Given the description of an element on the screen output the (x, y) to click on. 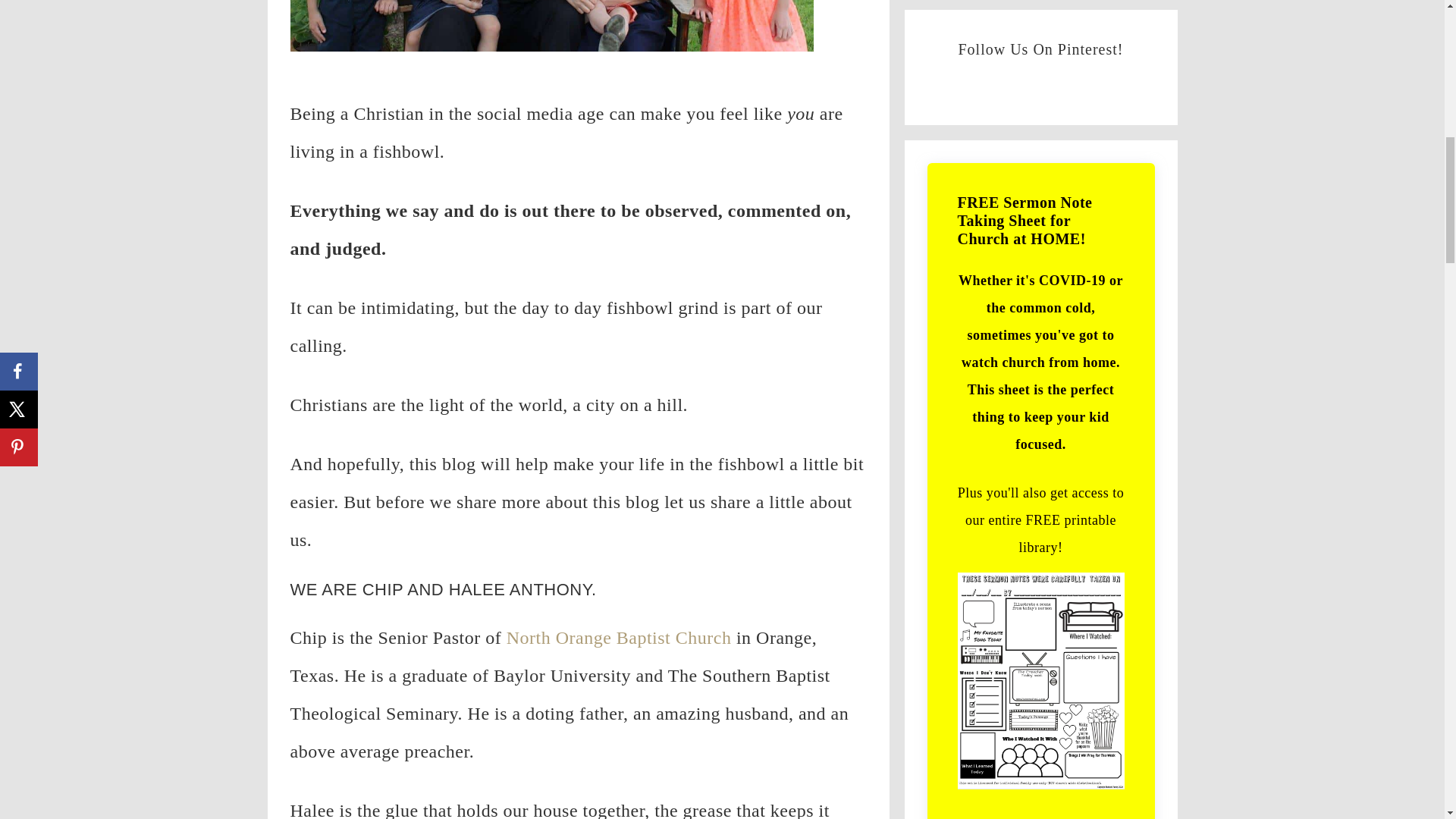
North Orange Baptist Church (619, 637)
